Given the description of an element on the screen output the (x, y) to click on. 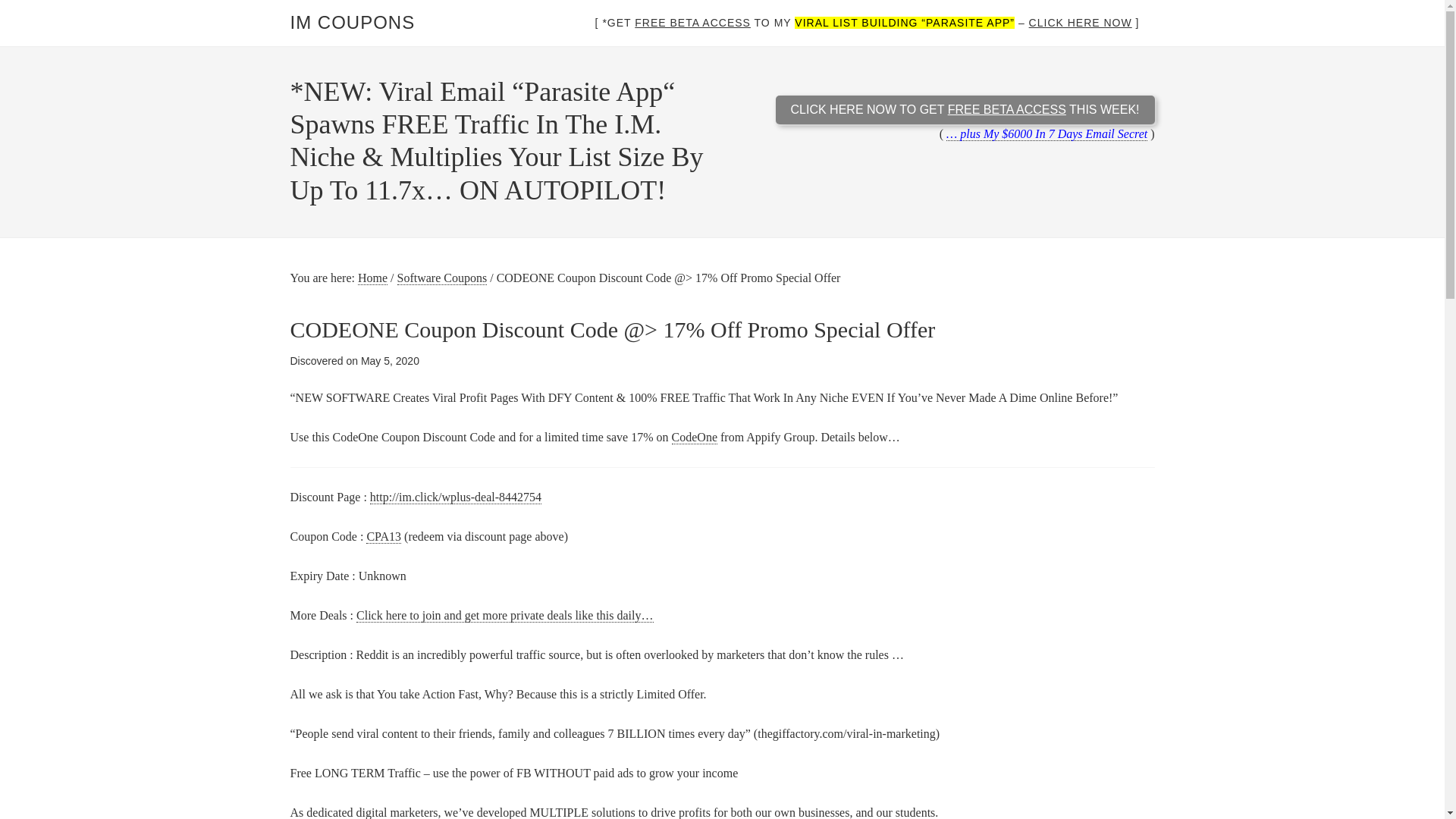
IM COUPONS (351, 22)
CodeOne (694, 437)
CLICK HERE NOW TO GET FREE BETA ACCESS THIS WEEK! (965, 109)
CPA13 (383, 535)
CLICK HERE NOW TO GET FREE BETA ACCESS THIS WEEK! (965, 121)
Home (372, 278)
Software Coupons (442, 278)
